Given the description of an element on the screen output the (x, y) to click on. 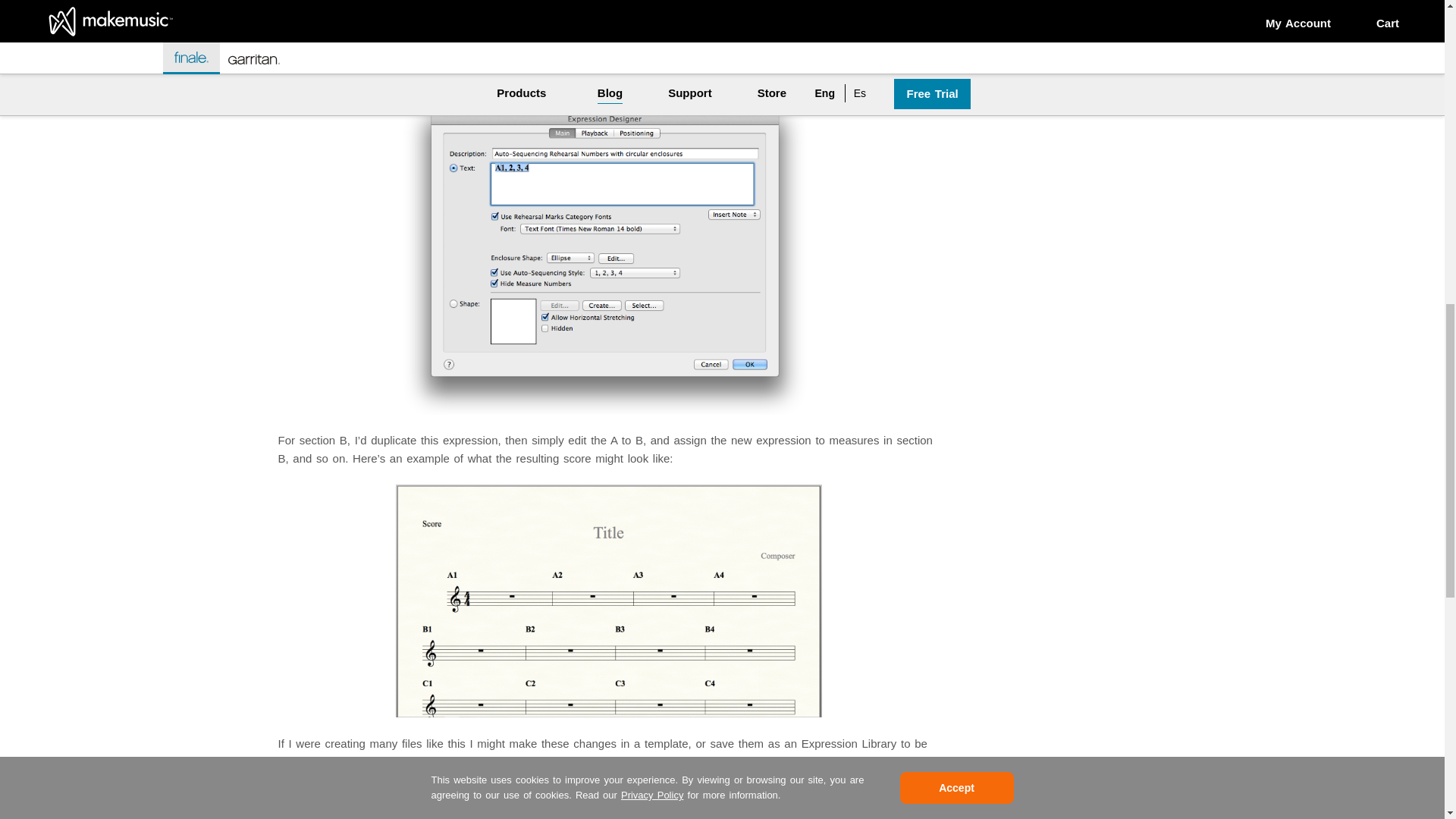
subscribe (1062, 49)
